Given the description of an element on the screen output the (x, y) to click on. 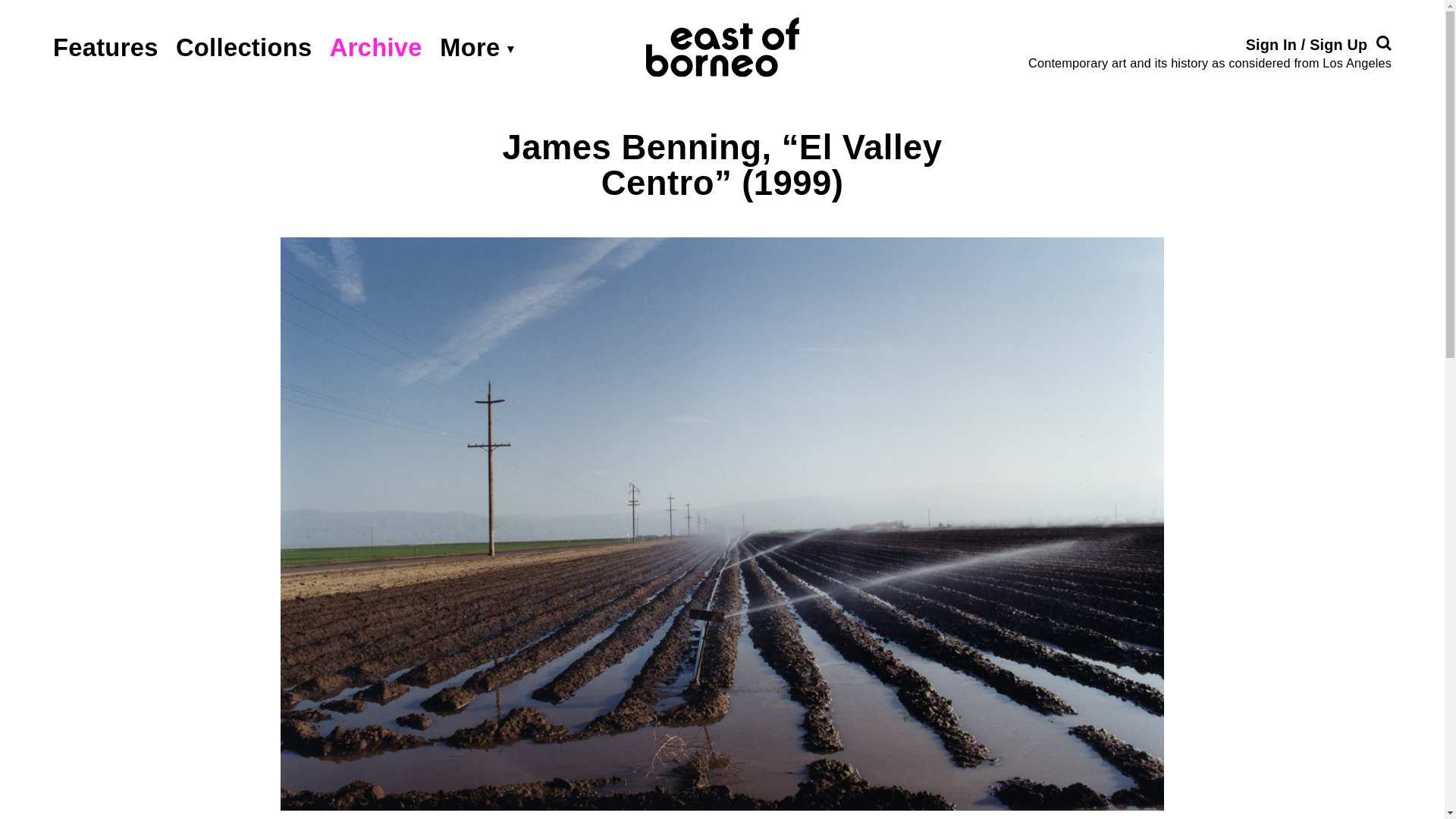
Features (105, 47)
Collections (244, 47)
Archive (376, 47)
